Given the description of an element on the screen output the (x, y) to click on. 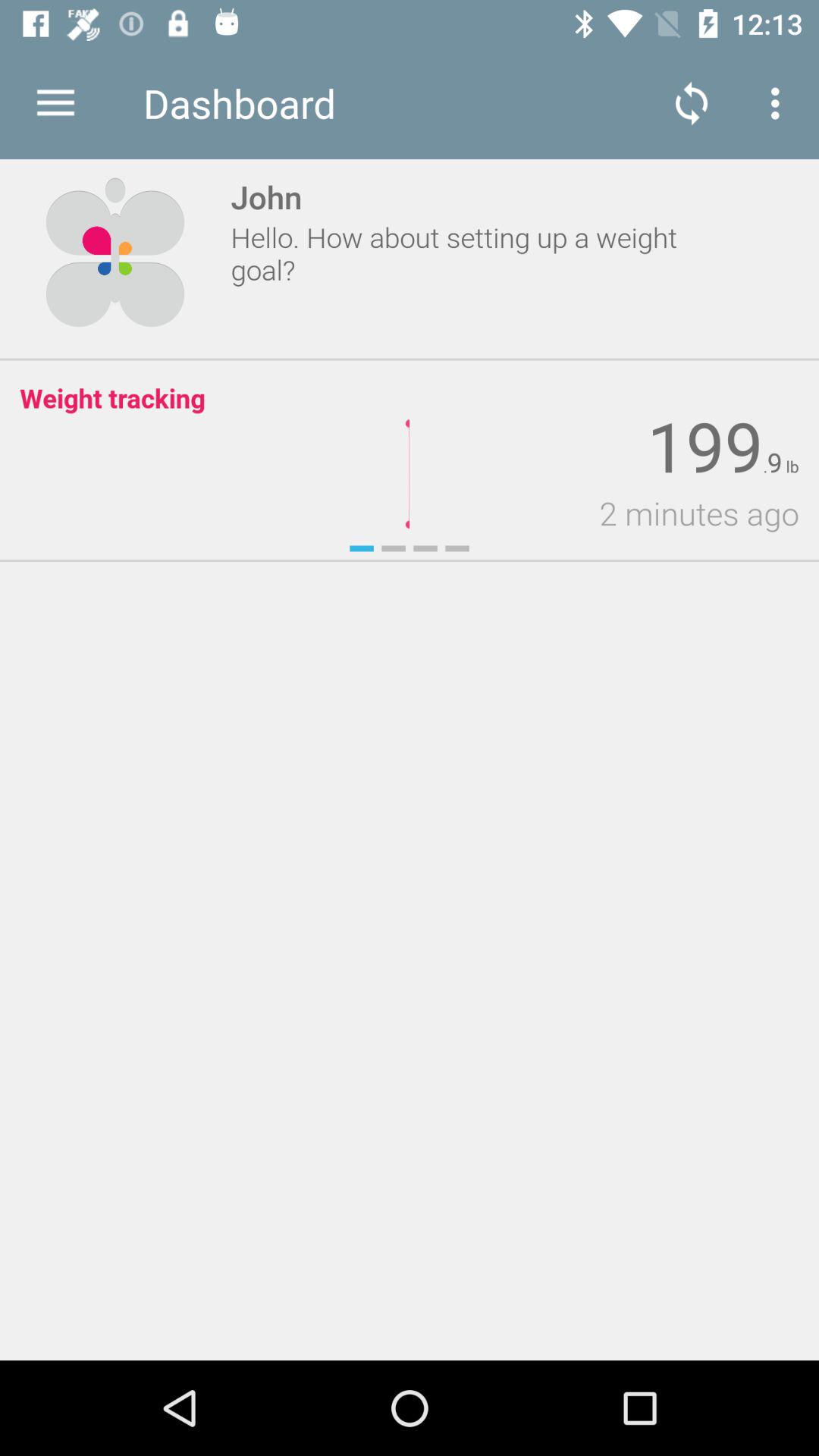
tap the  lb item (790, 466)
